Given the description of an element on the screen output the (x, y) to click on. 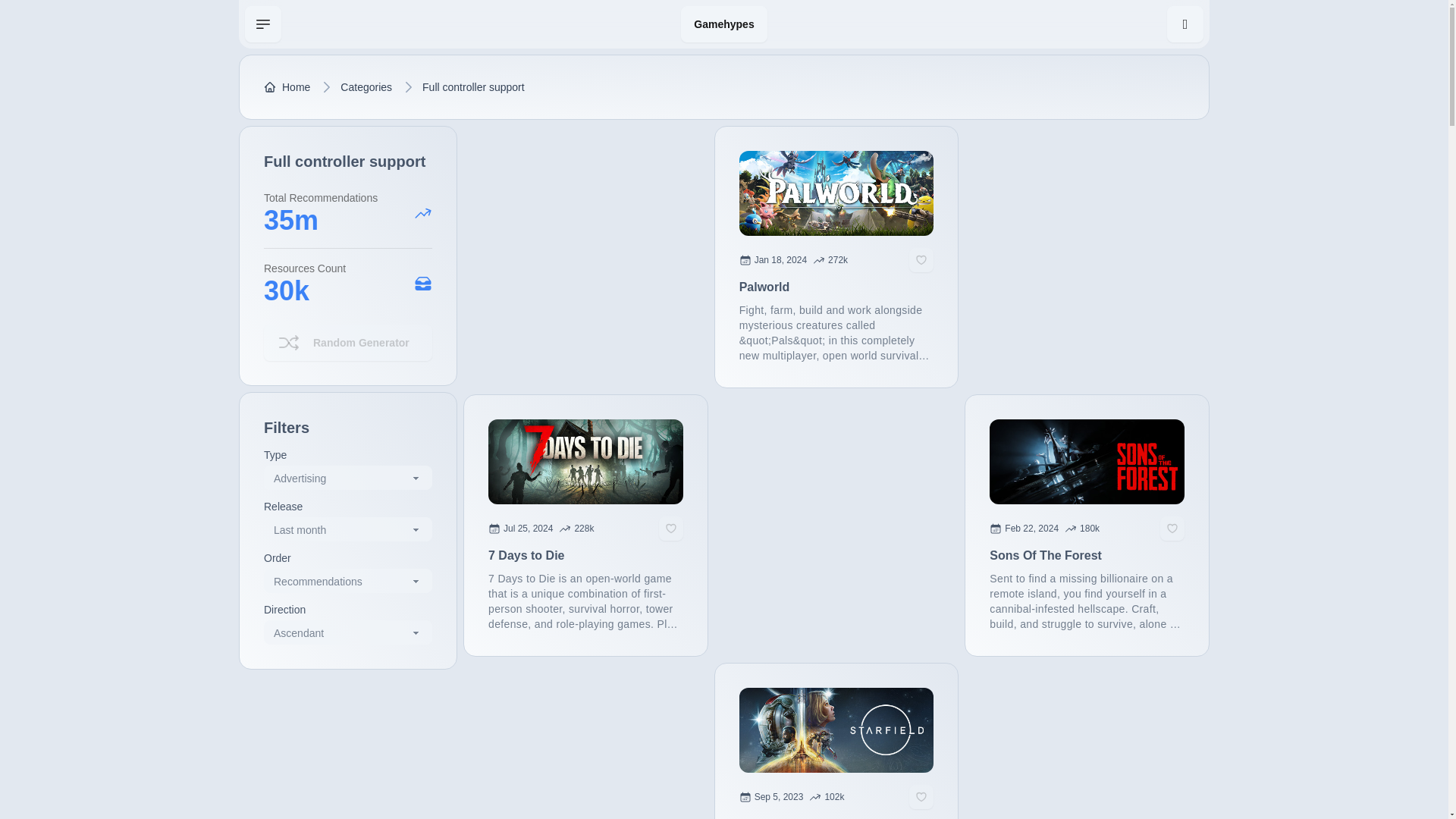
Home (286, 87)
Gamehypes (1044, 528)
Random Generator (793, 259)
Full controller support (540, 528)
Buy me a beer (724, 23)
Gamehypes (347, 342)
Categories (473, 87)
